Given the description of an element on the screen output the (x, y) to click on. 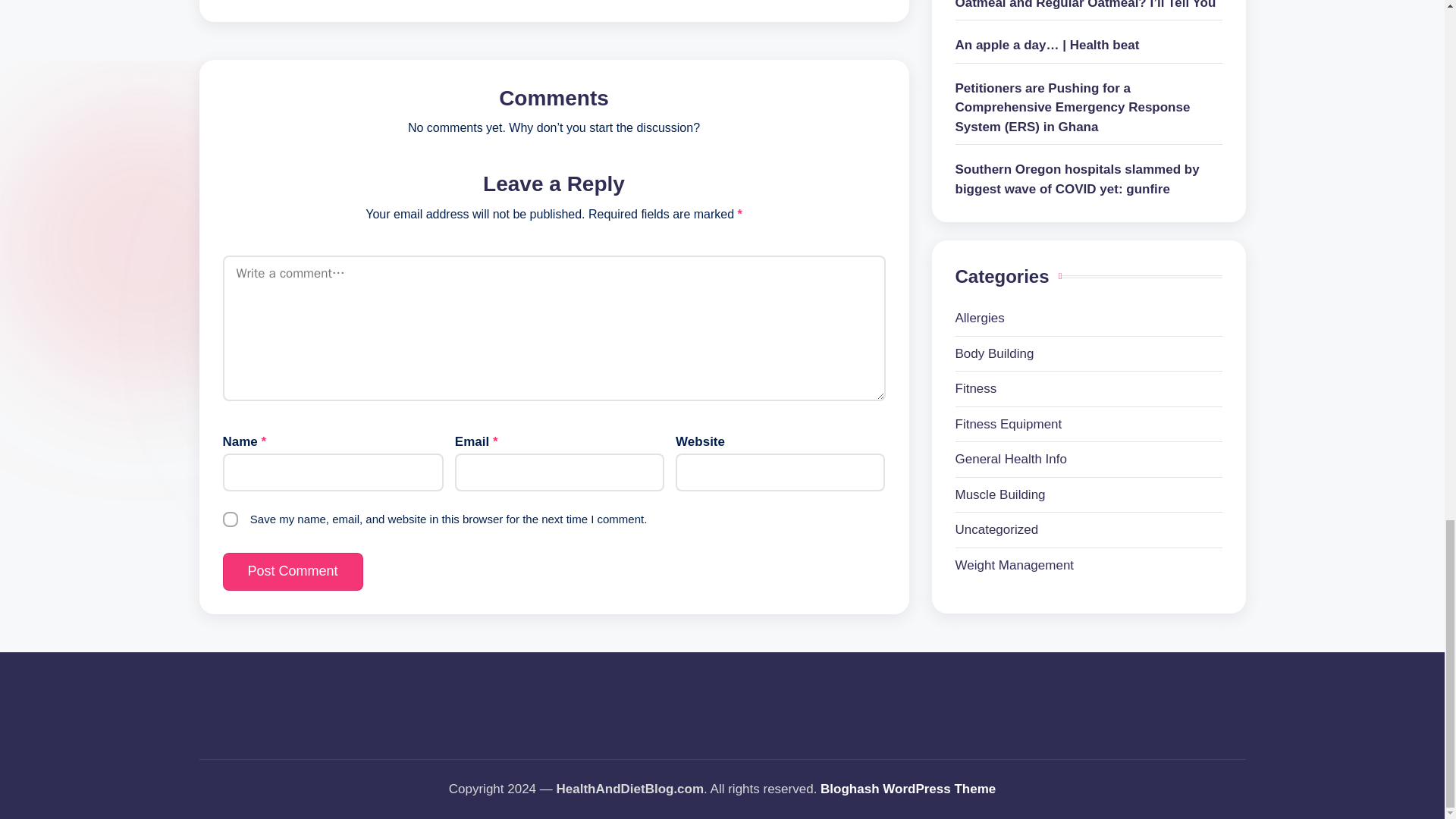
yes (230, 519)
Post Comment (292, 571)
Post Comment (292, 571)
